Given the description of an element on the screen output the (x, y) to click on. 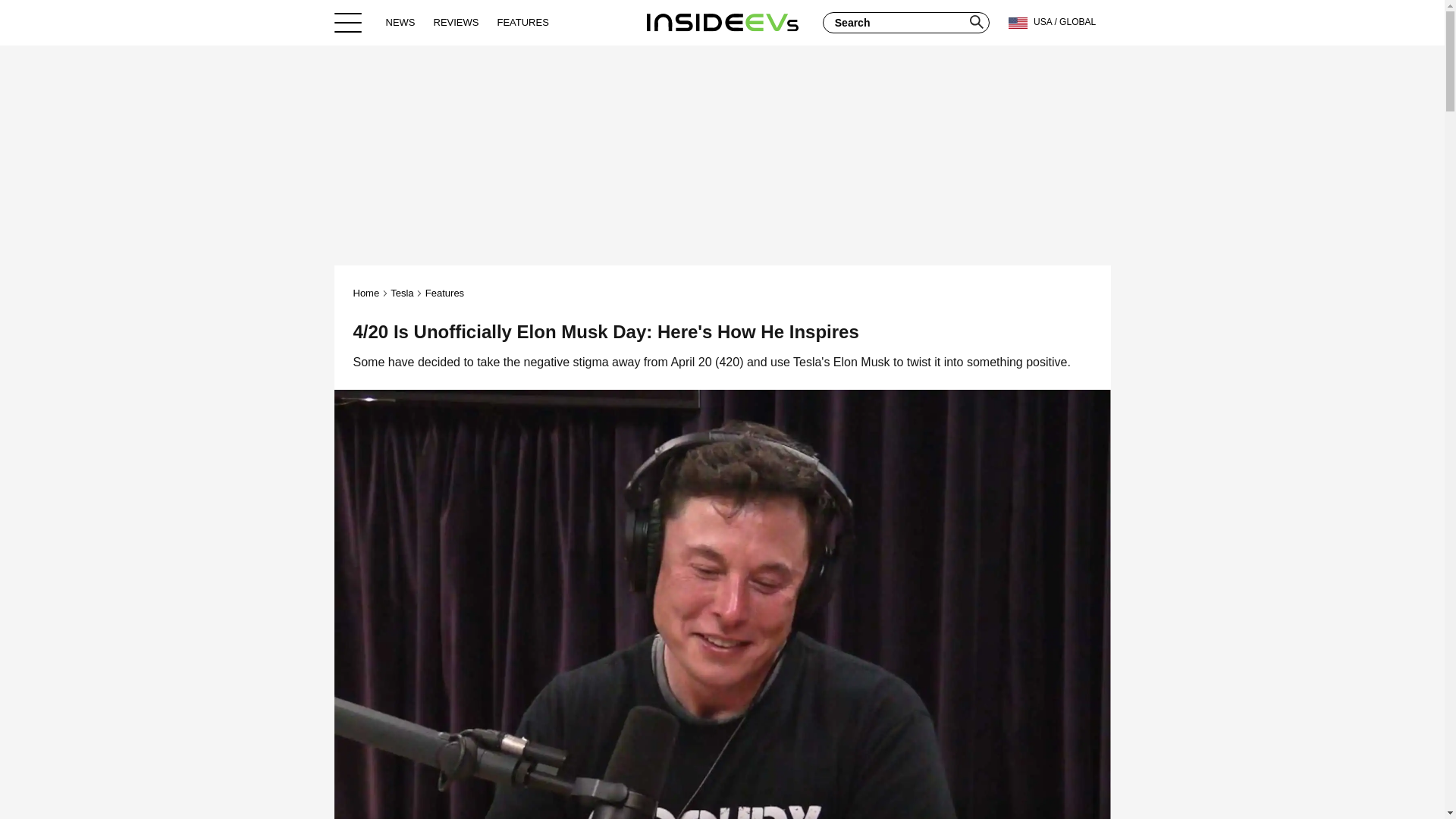
Home (366, 293)
Tesla (401, 292)
REVIEWS (456, 22)
Home (721, 22)
FEATURES (522, 22)
Features (444, 292)
NEWS (399, 22)
